Given the description of an element on the screen output the (x, y) to click on. 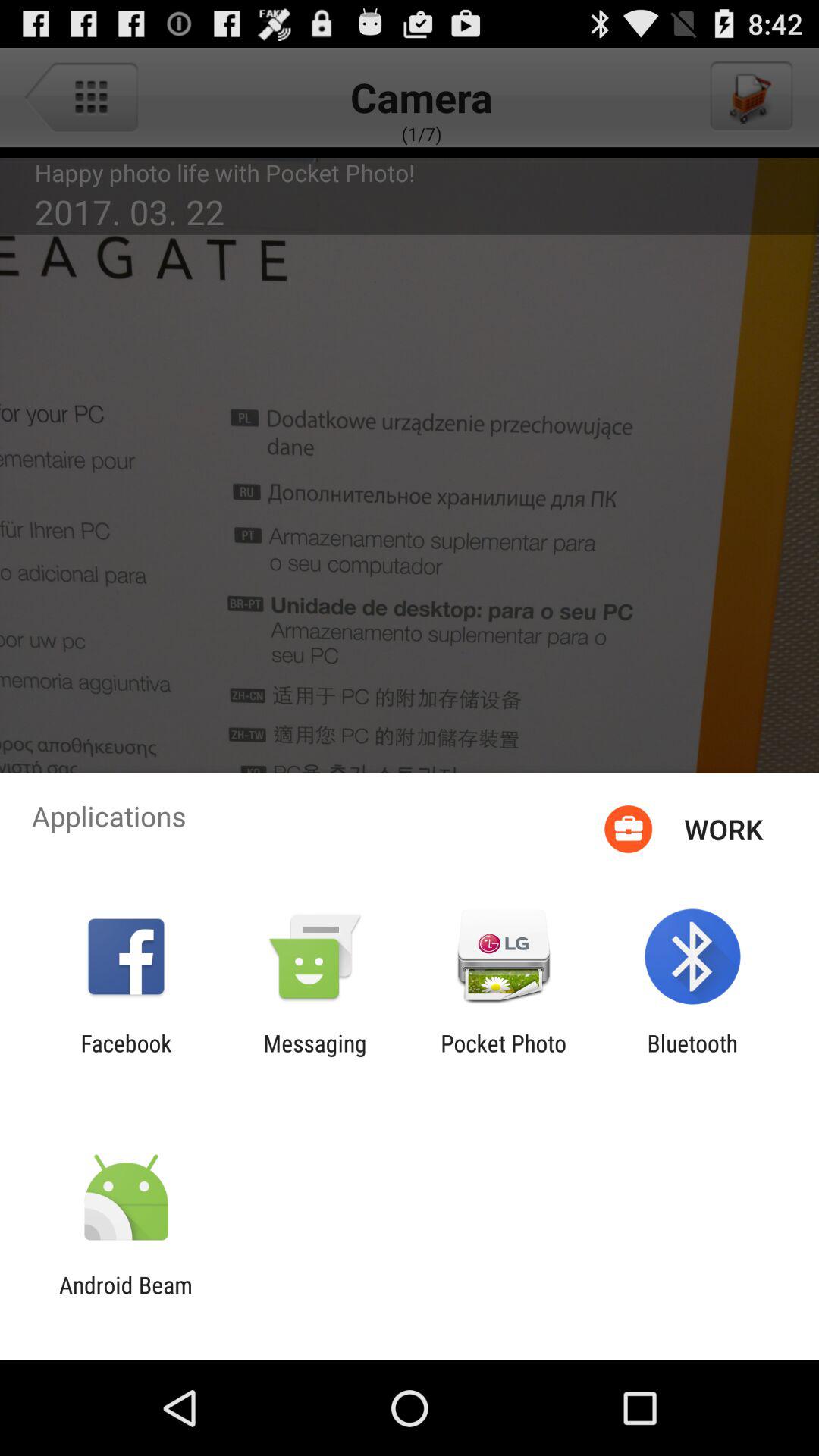
turn off messaging icon (314, 1056)
